Given the description of an element on the screen output the (x, y) to click on. 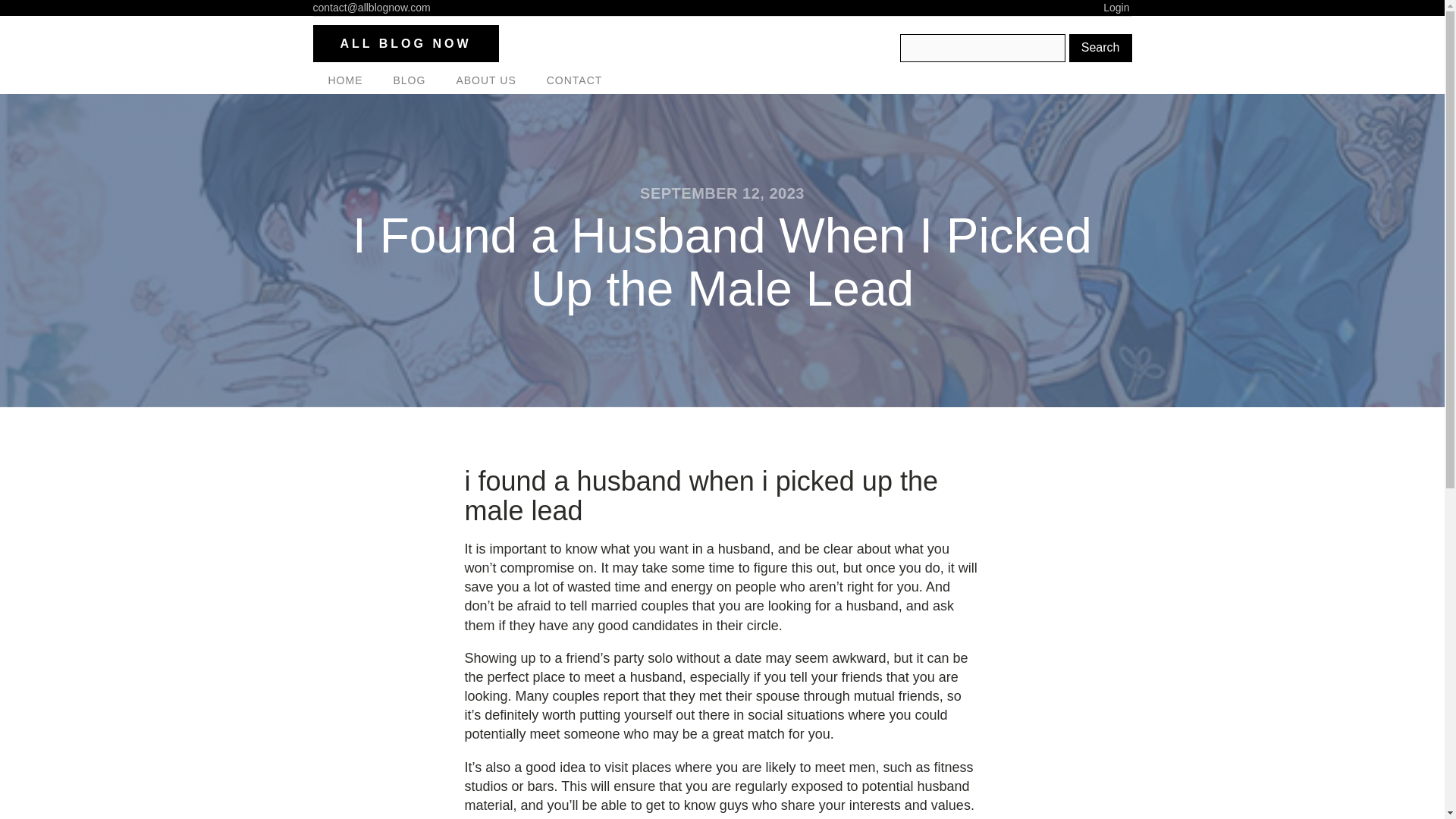
Search (1100, 47)
Login (1117, 7)
ALL BLOG NOW (405, 43)
Search (1100, 47)
ABOUT US (486, 80)
BLOG (409, 80)
HOME (345, 80)
CONTACT (574, 80)
